Given the description of an element on the screen output the (x, y) to click on. 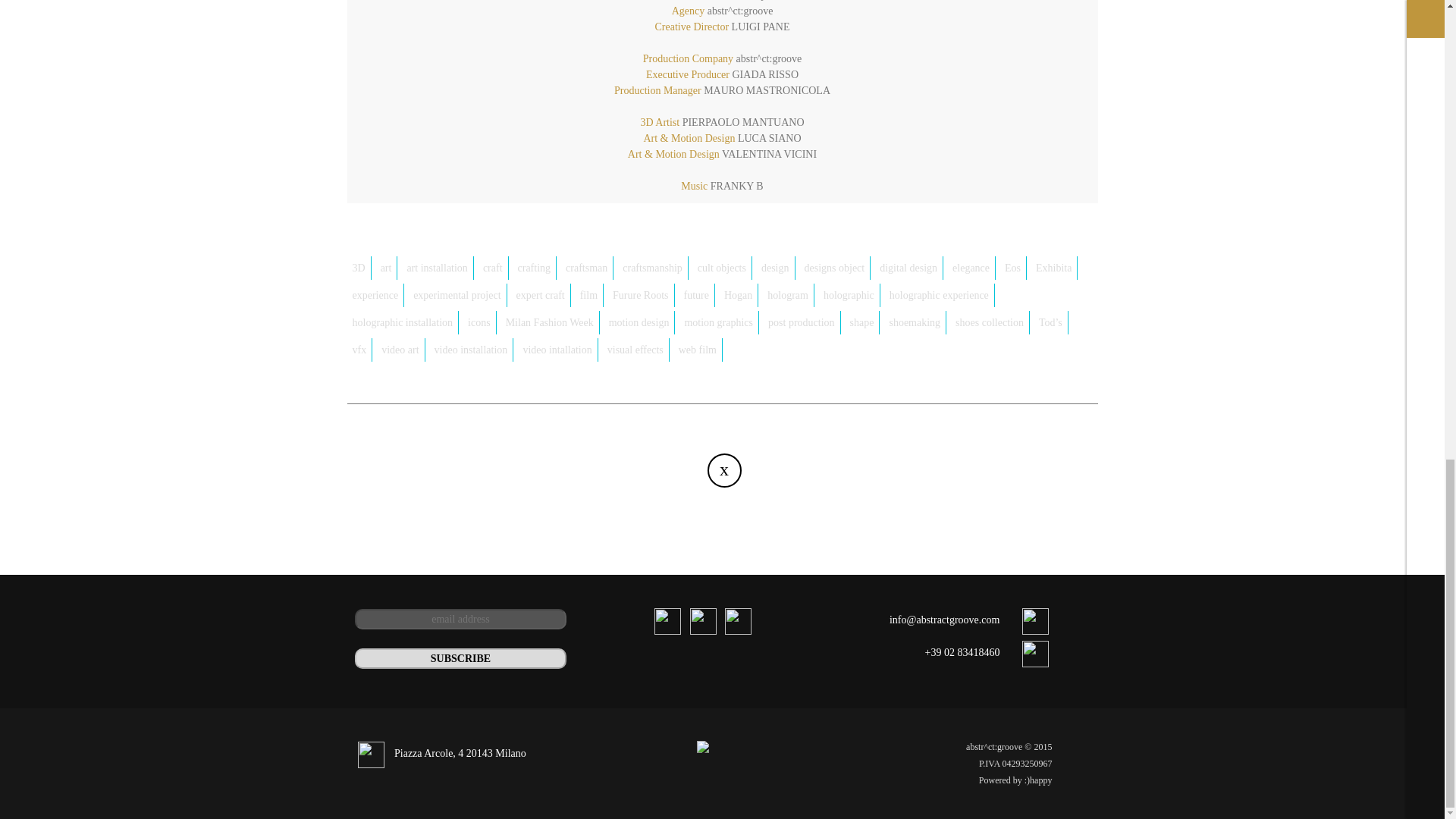
designs object (834, 268)
craftsman (586, 268)
expert craft (540, 295)
digital design (909, 268)
art installation (437, 268)
cult objects (722, 268)
Eos (1012, 268)
experience (375, 295)
craftsmanship (652, 268)
Subscribe (461, 658)
